Given the description of an element on the screen output the (x, y) to click on. 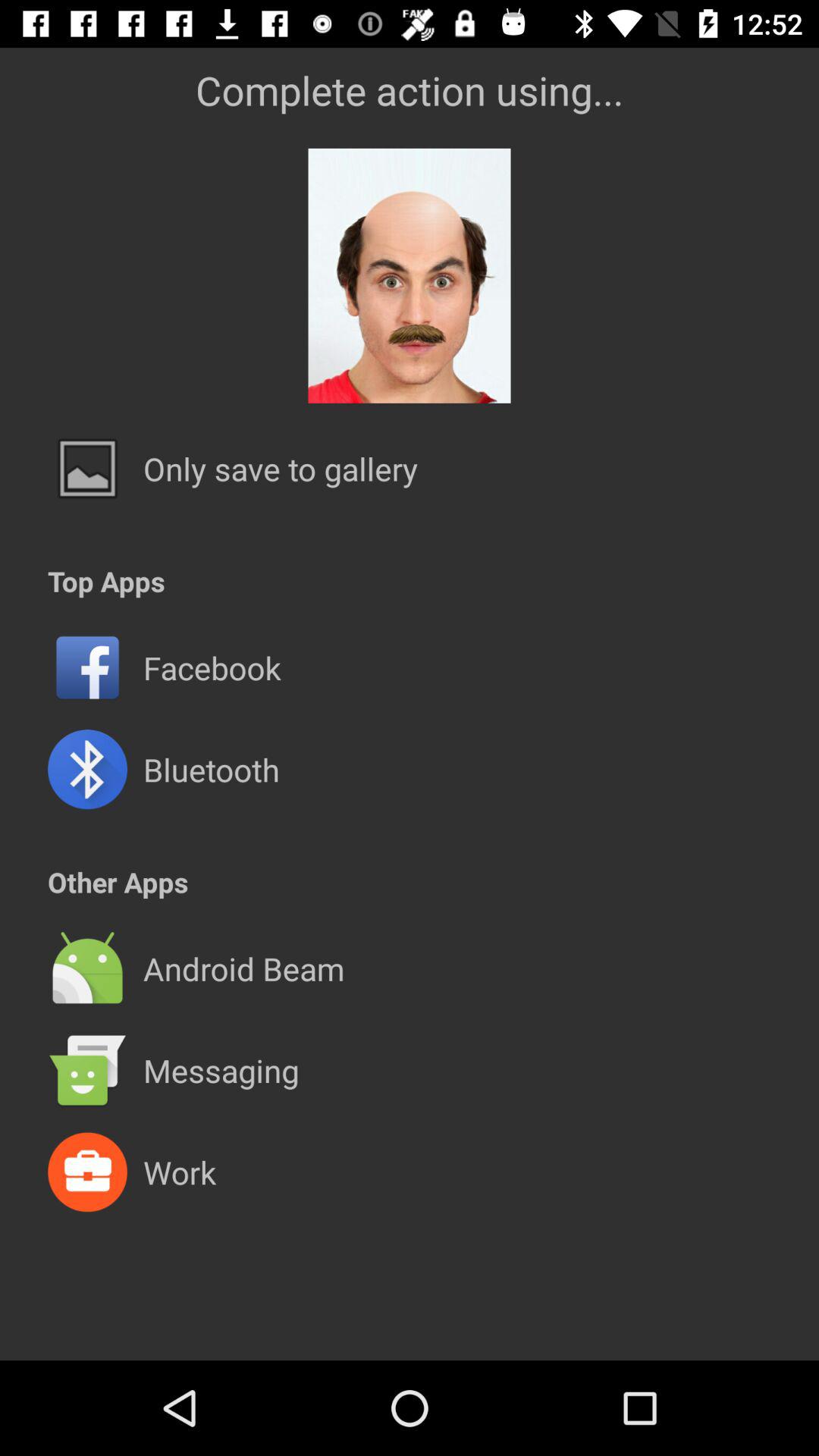
select the bluetooth item (211, 769)
